Given the description of an element on the screen output the (x, y) to click on. 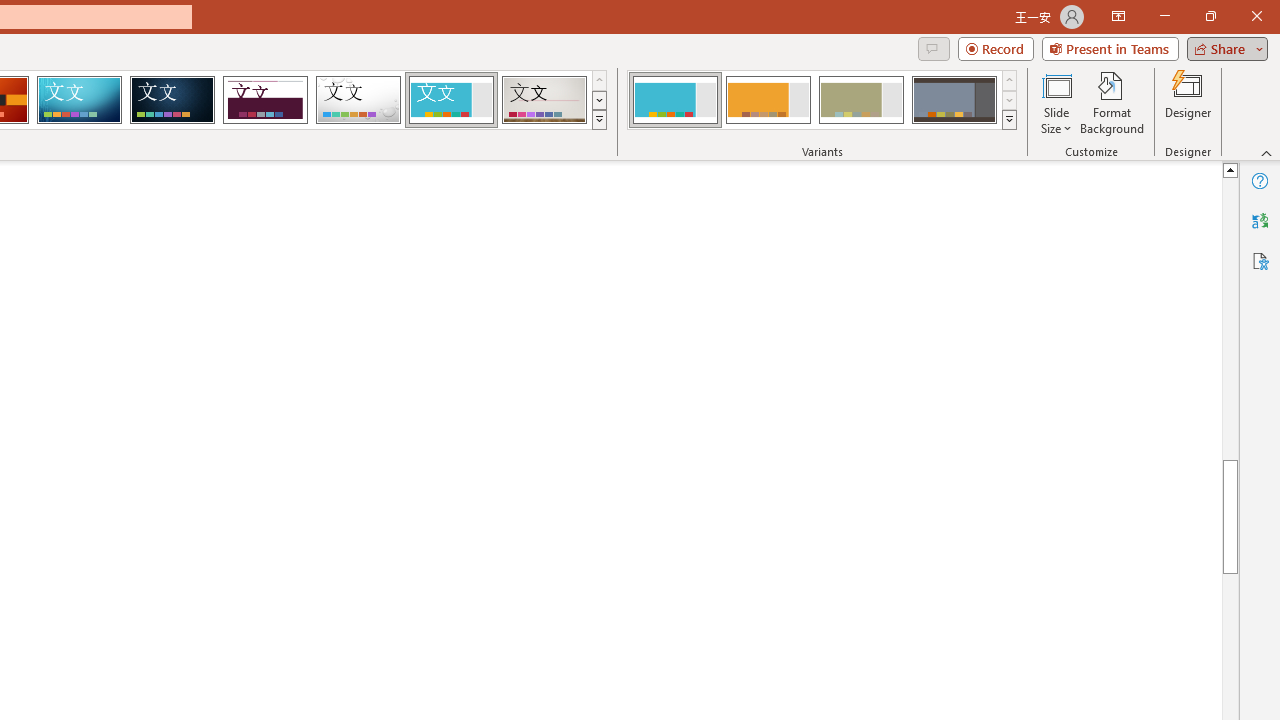
Format Background (1111, 102)
Variants (1009, 120)
TextBox 7 (1213, 288)
AutomationID: ThemeVariantsGallery (822, 99)
Frame Variant 2 (768, 100)
Frame Variant 1 (674, 100)
Frame Variant 4 (953, 100)
Dividend (265, 100)
Themes (598, 120)
